Given the description of an element on the screen output the (x, y) to click on. 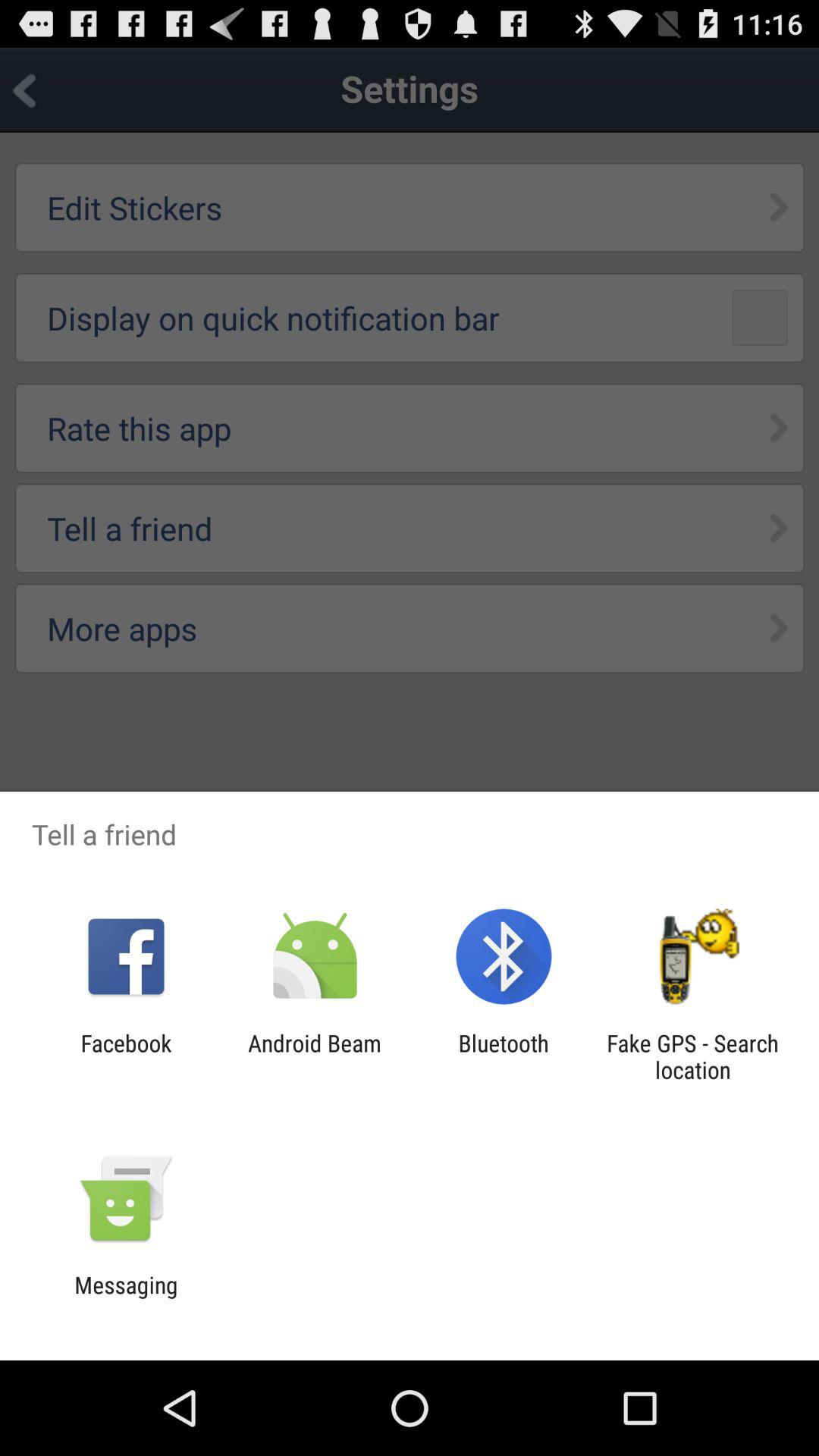
open the icon at the bottom right corner (692, 1056)
